Given the description of an element on the screen output the (x, y) to click on. 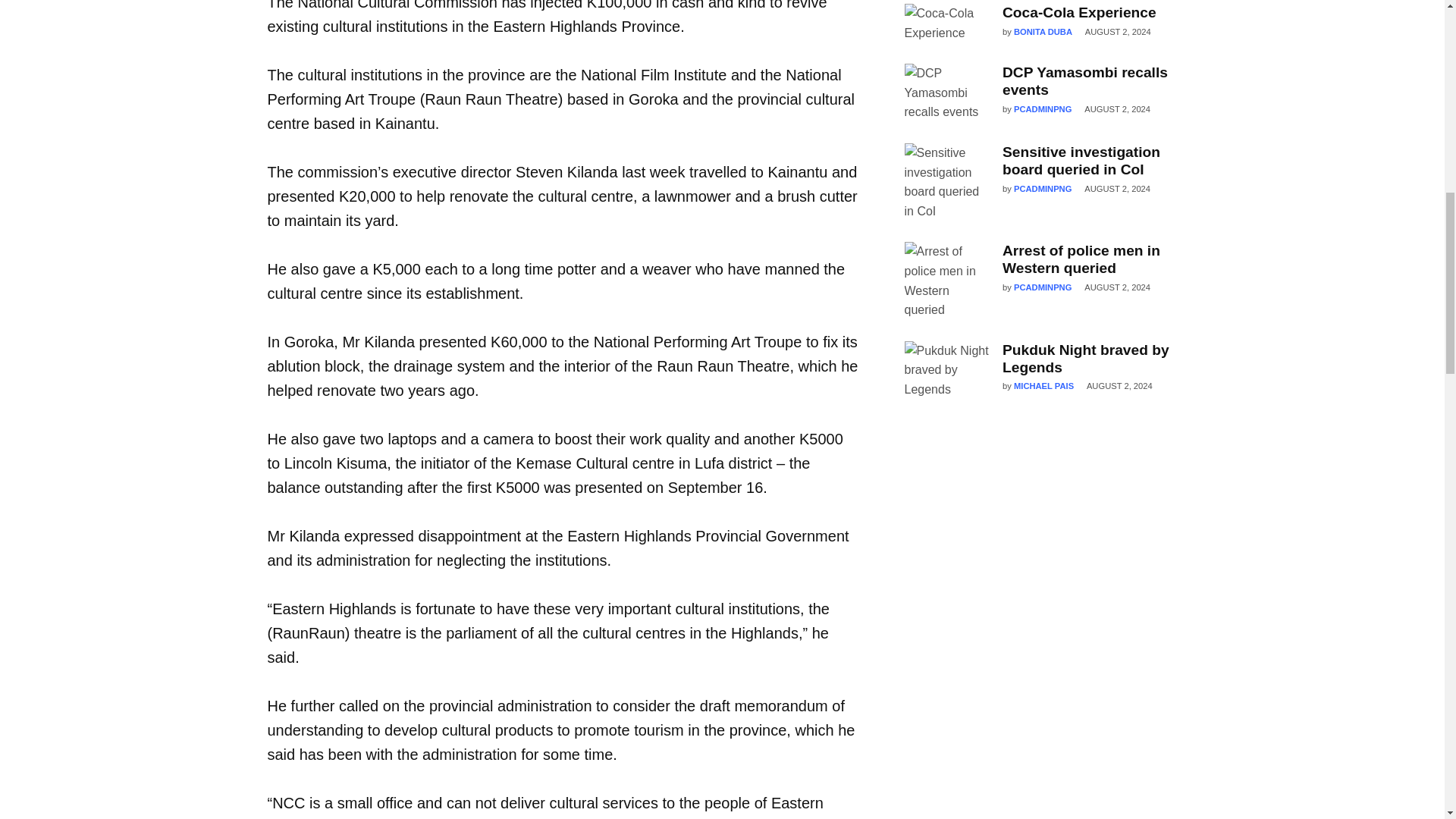
VideoPress Video Player (1040, 711)
VideoPress Video Player (1040, 503)
